Given the description of an element on the screen output the (x, y) to click on. 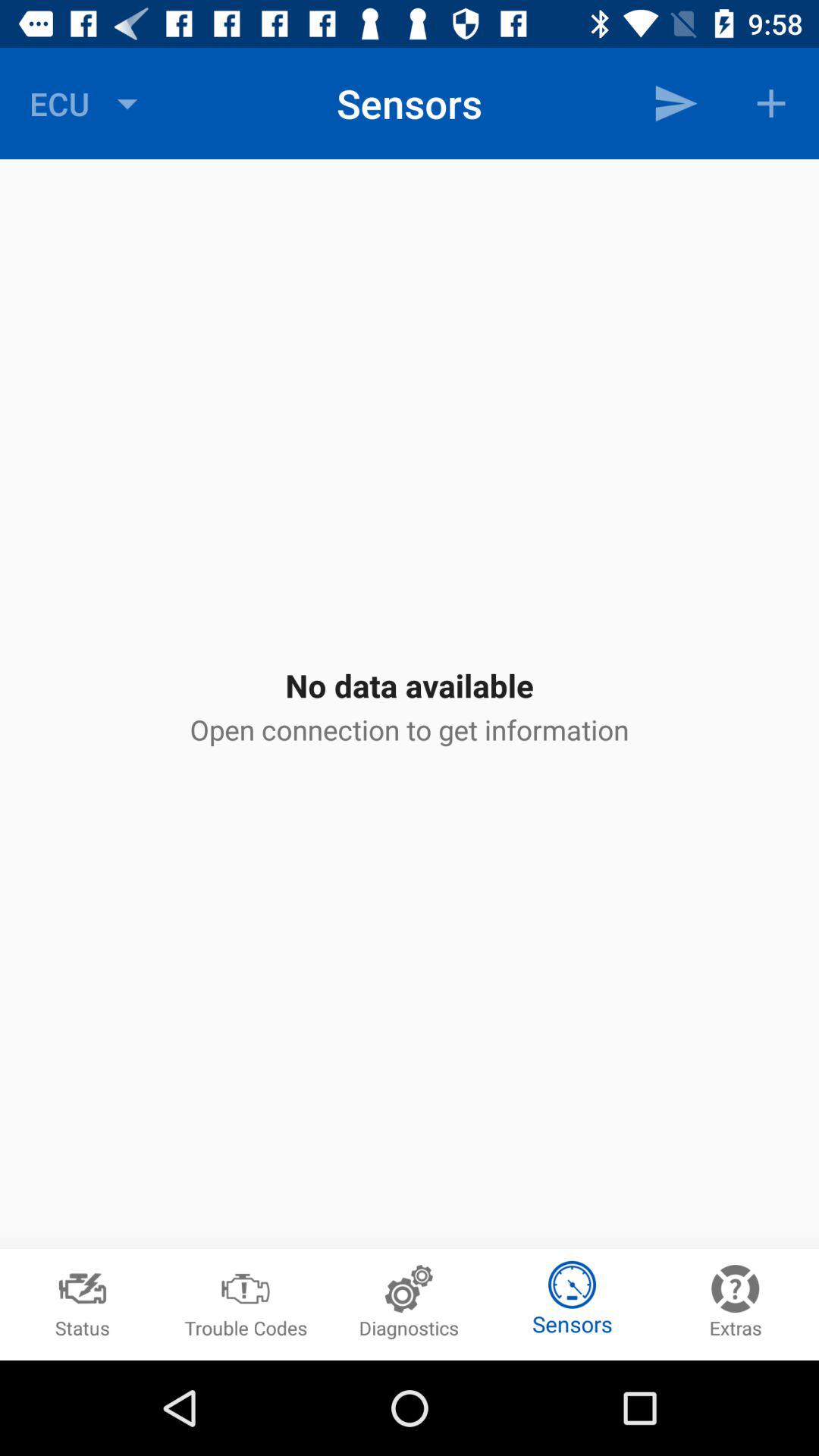
launch the icon next to the sensors icon (675, 103)
